Given the description of an element on the screen output the (x, y) to click on. 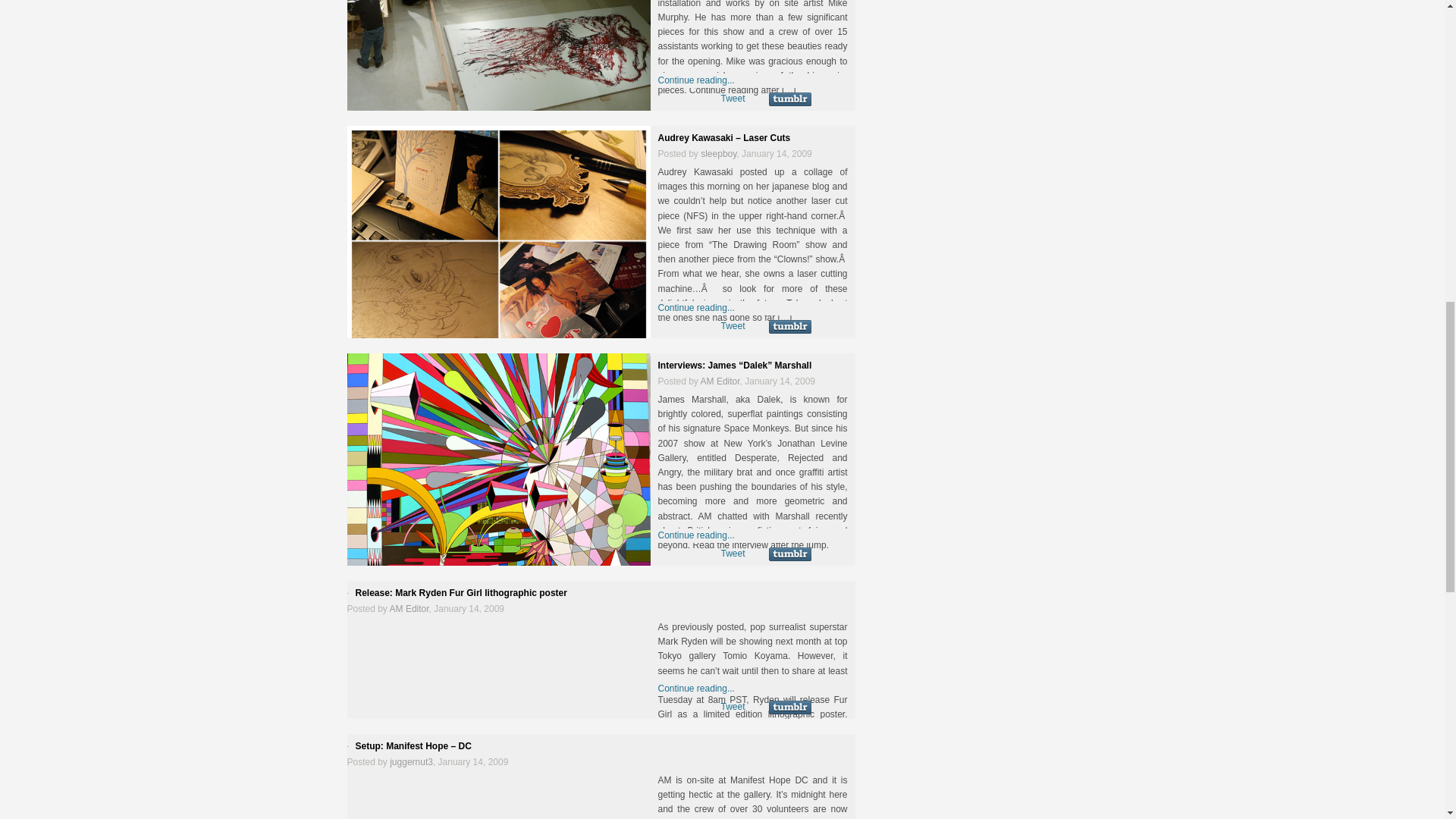
Continue reading... (696, 80)
sleepboy (718, 153)
Release: Mark Ryden Fur Girl lithographic poster (460, 593)
Tweet (732, 98)
Continue reading... (696, 307)
